Given the description of an element on the screen output the (x, y) to click on. 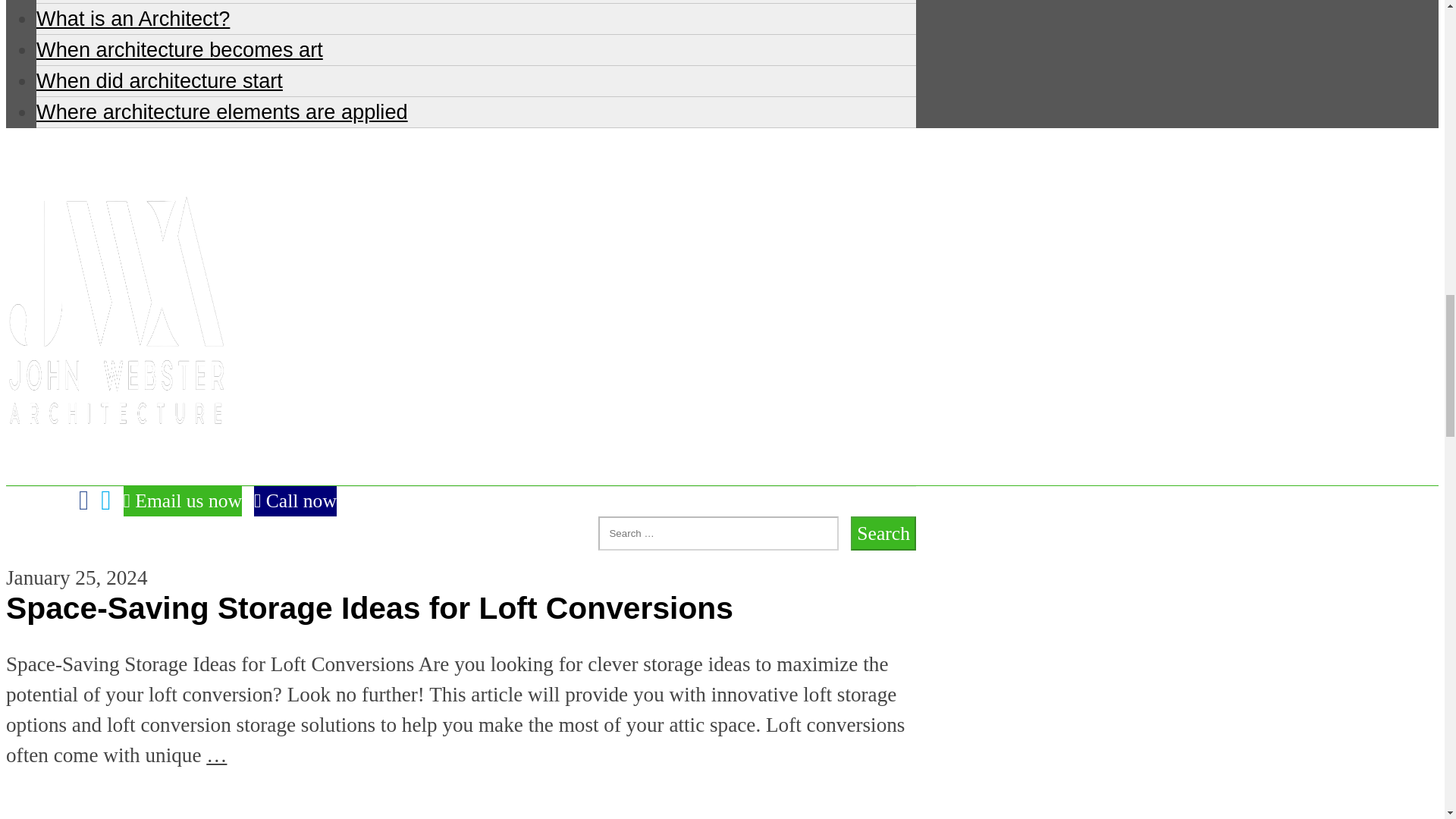
Search (882, 533)
Go to homepage (115, 469)
Search (882, 533)
